Given the description of an element on the screen output the (x, y) to click on. 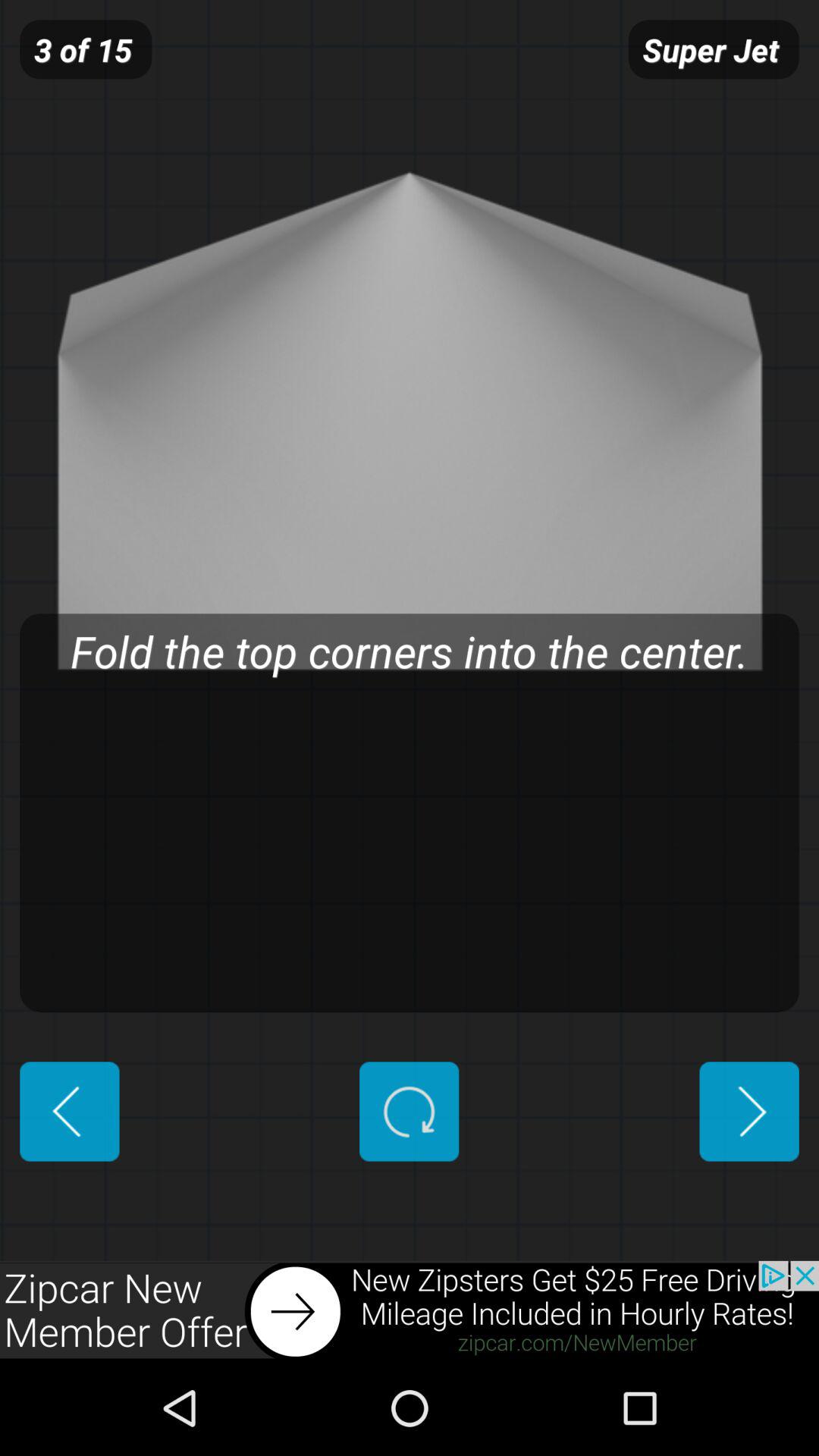
advance next (749, 1111)
